Given the description of an element on the screen output the (x, y) to click on. 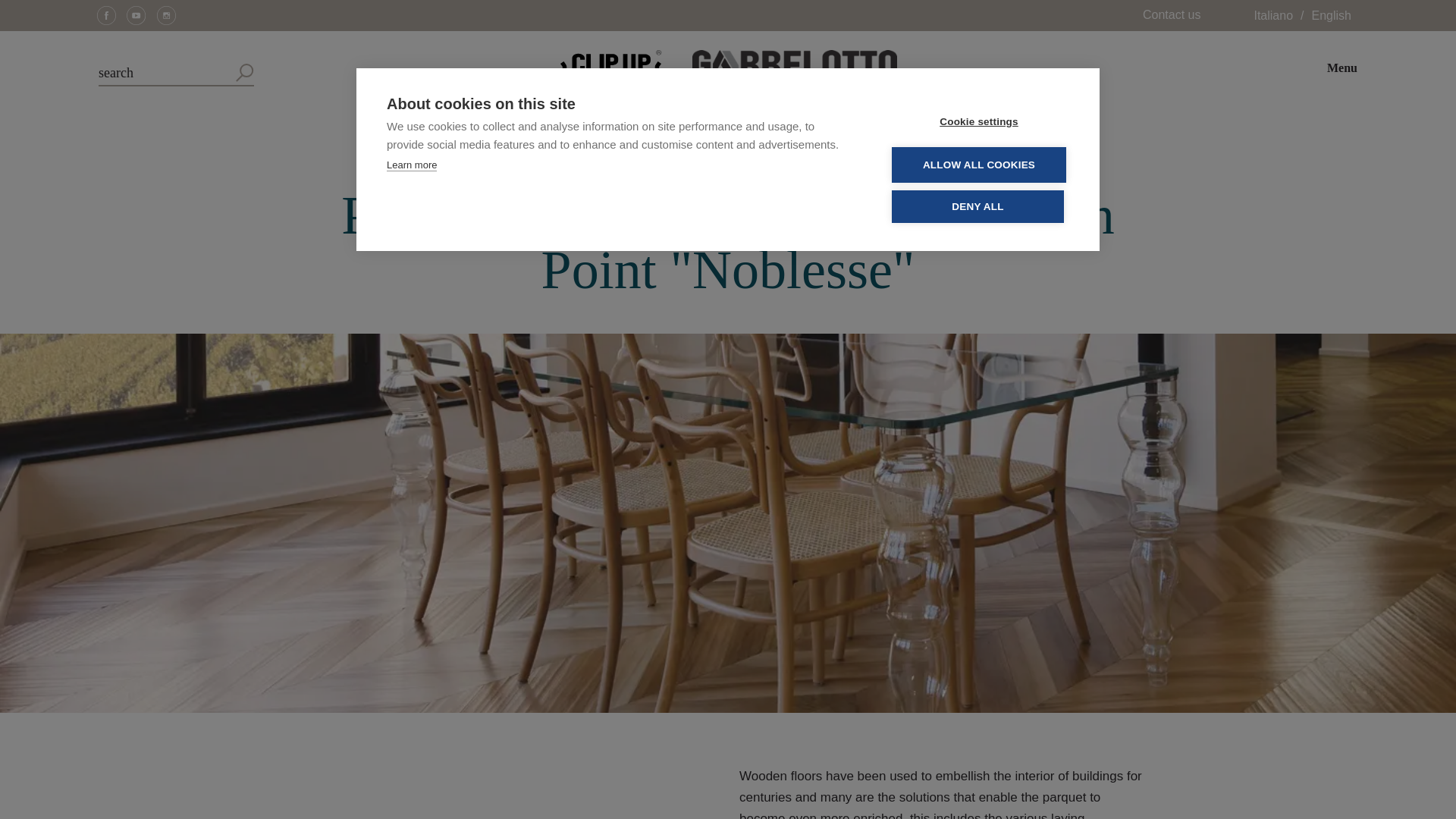
instagram (174, 15)
ALLOW ALL COOKIES (978, 63)
Cookie settings (978, 2)
English (1331, 15)
DENY ALL (977, 184)
youtube (144, 15)
Contact us (1170, 13)
facebook (115, 15)
Italiano (1273, 15)
search (176, 67)
